Given the description of an element on the screen output the (x, y) to click on. 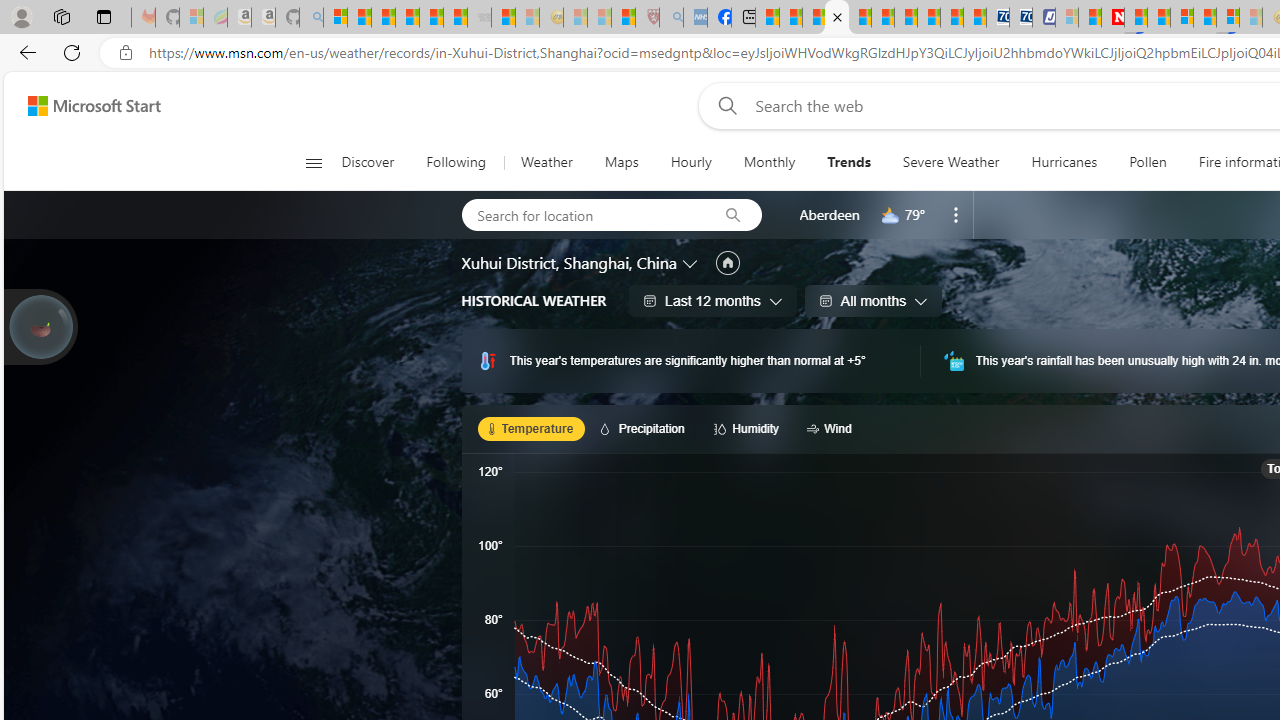
New Report Confirms 2023 Was Record Hot | Watch (430, 17)
Local - MSN (622, 17)
Join us in planting real trees to help our planet! (40, 327)
Trends (849, 162)
Search for location (582, 214)
Pollen (1147, 162)
Aberdeen (829, 214)
Maps (621, 162)
